Given the description of an element on the screen output the (x, y) to click on. 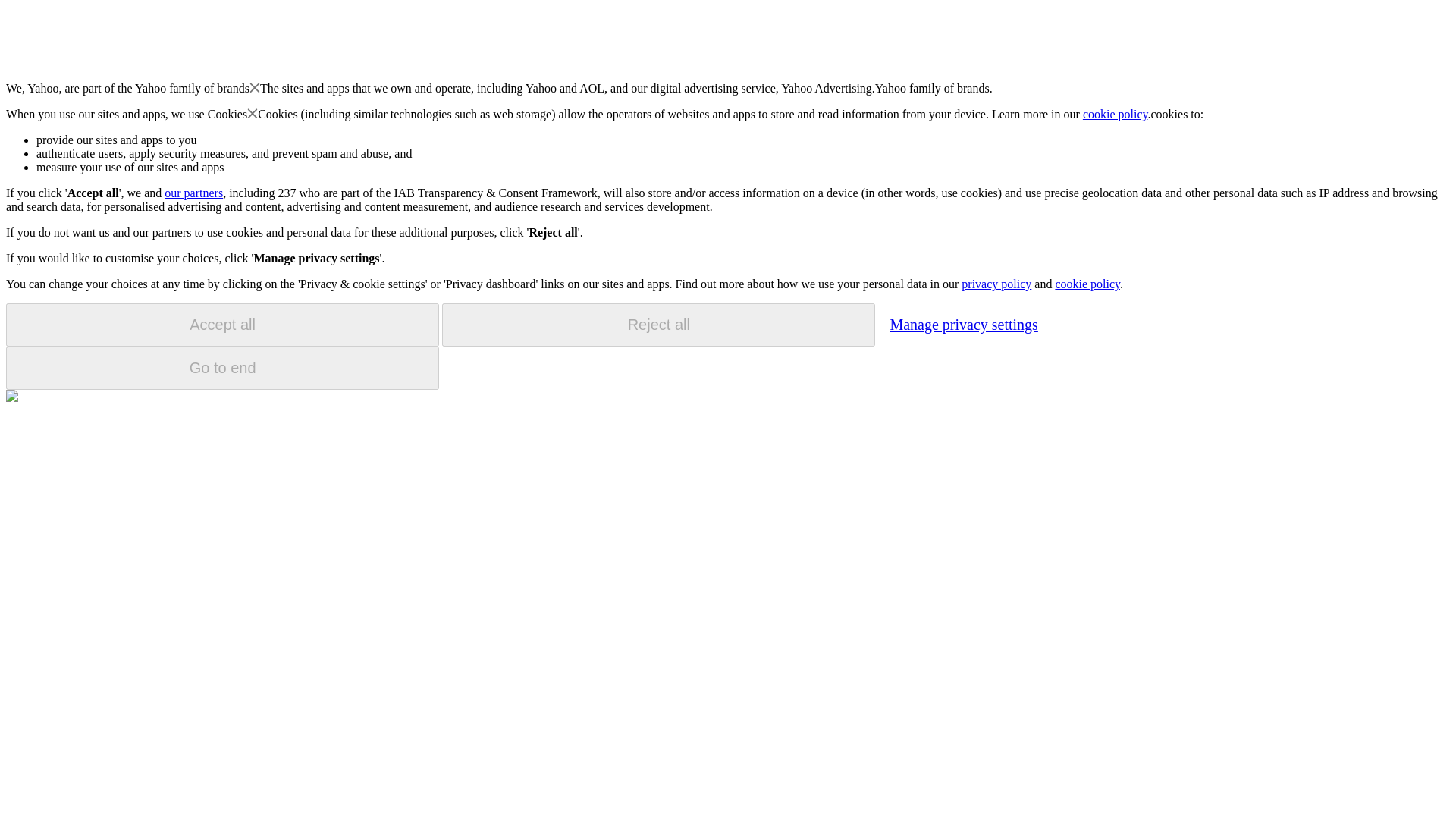
cookie policy (1115, 113)
Reject all (658, 324)
privacy policy (995, 283)
Manage privacy settings (963, 323)
our partners (193, 192)
Accept all (222, 324)
Go to end (222, 367)
cookie policy (1086, 283)
